Given the description of an element on the screen output the (x, y) to click on. 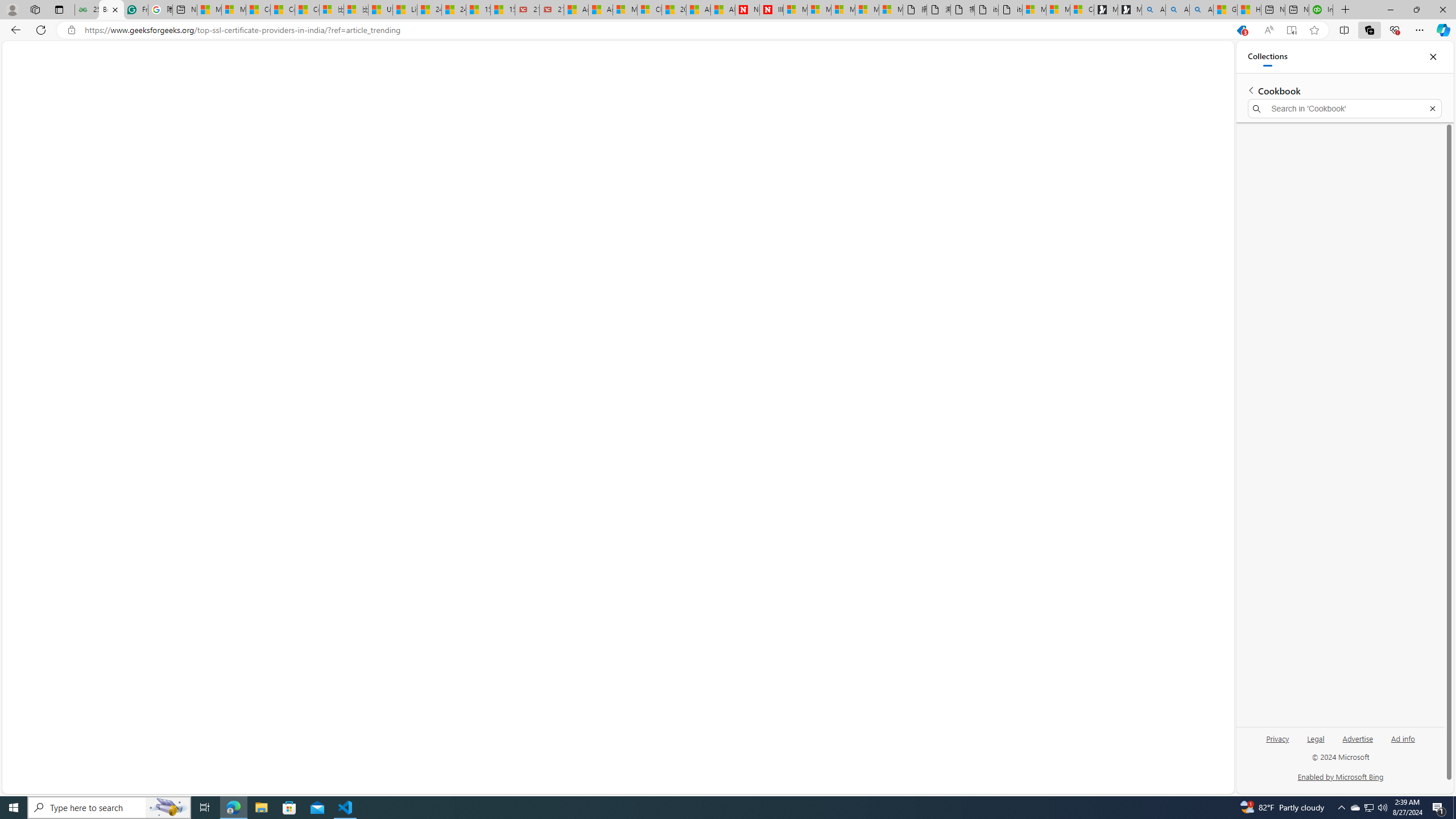
Website & Apps (220, 79)
ChatGPT News (526, 80)
Tech News (432, 79)
What is OpenAI SearchGPT? How it works and How to Get it? (1114, 199)
DSA (88, 55)
Full Stack Developer Roadmap [2024 Updated] (1118, 224)
How to Get a Free SSL Certificate (1111, 138)
Illness news & latest pictures from Newsweek.com (770, 9)
ChatGPT Blogs (376, 79)
Lightbox (723, 417)
AutomationID: gradient2 (156, 319)
